Given the description of an element on the screen output the (x, y) to click on. 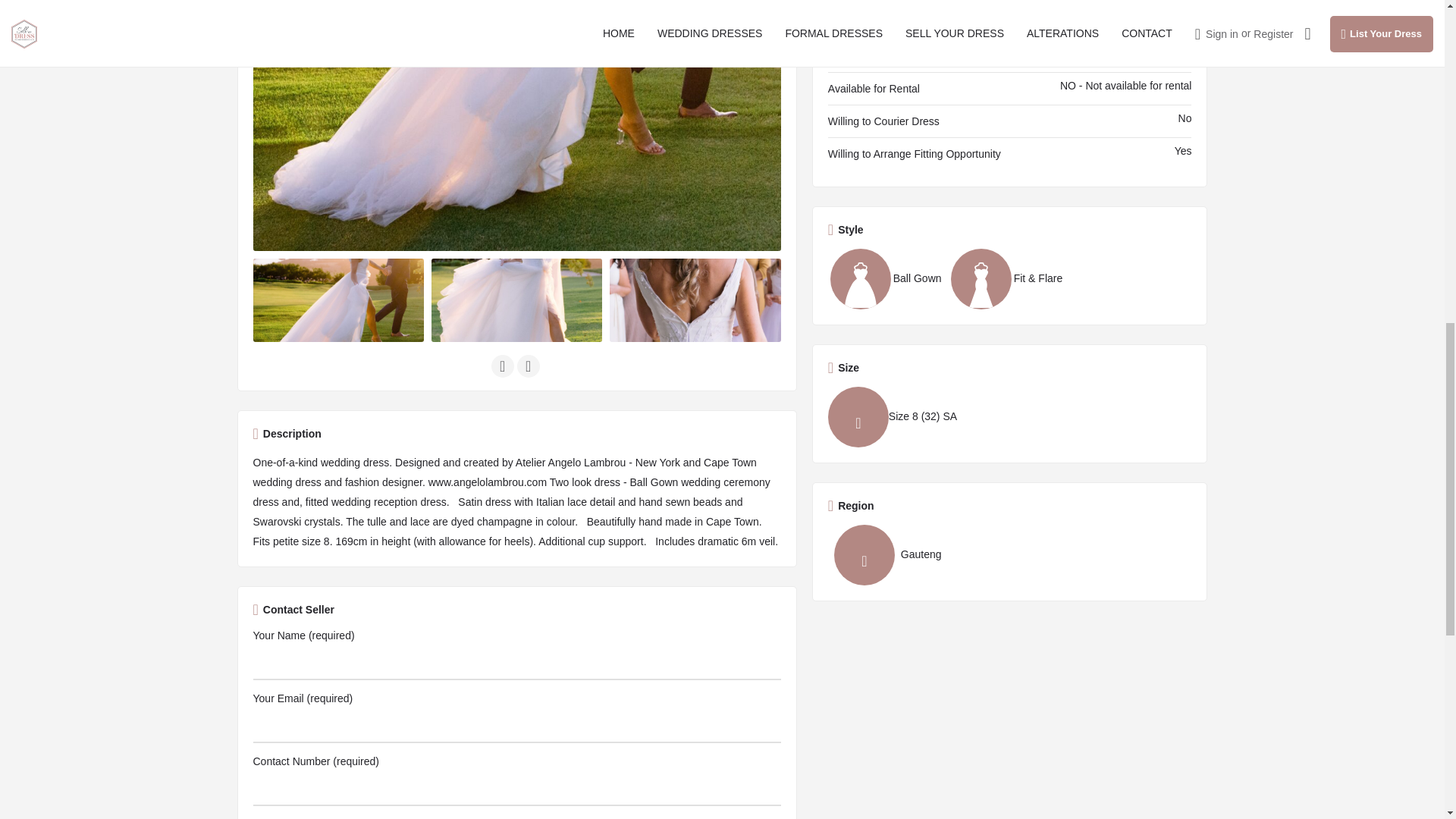
Gauteng (885, 554)
Ball Gown (885, 278)
